Given the description of an element on the screen output the (x, y) to click on. 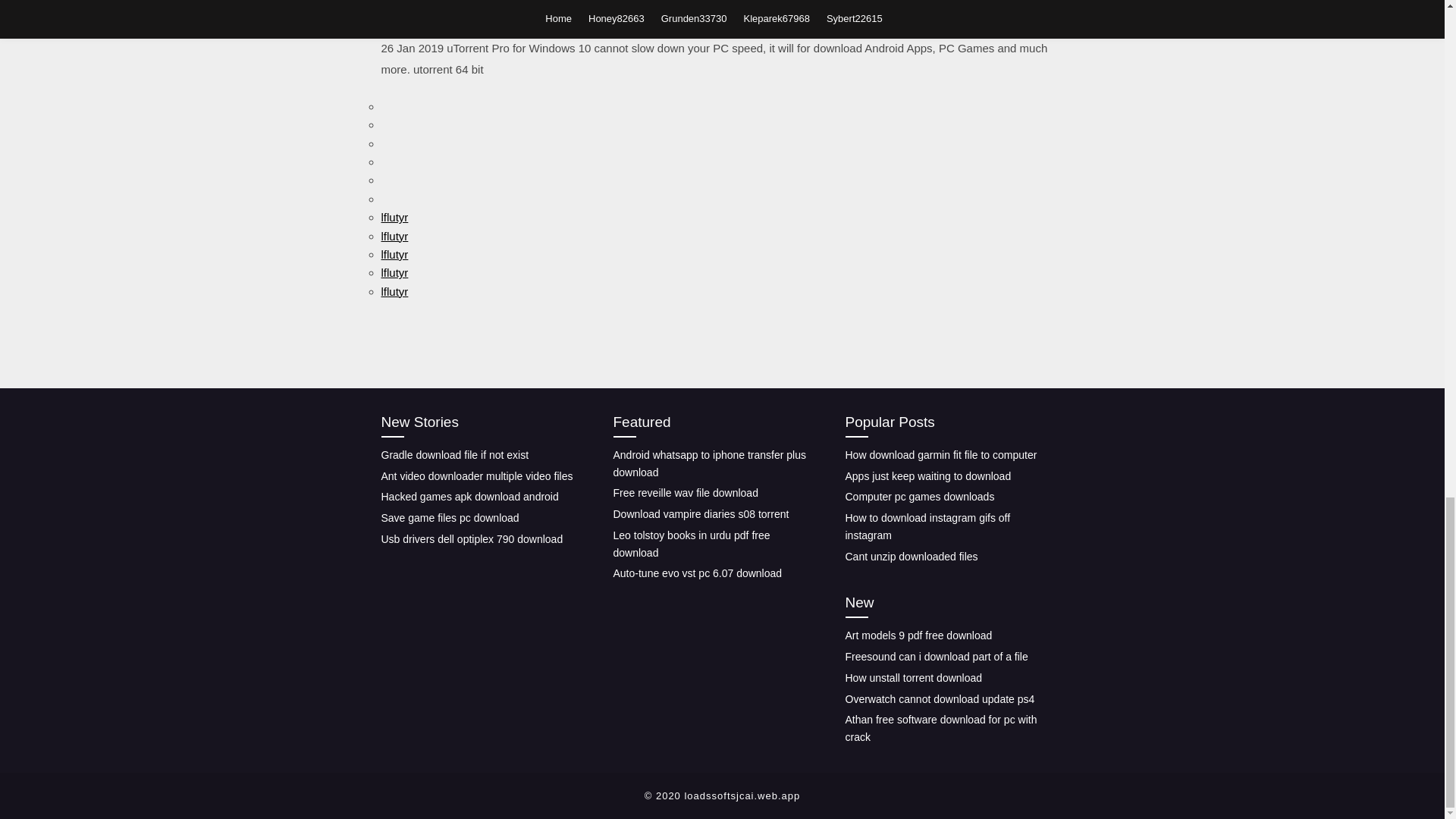
Leo tolstoy books in urdu pdf free download (691, 543)
Freesound can i download part of a file (935, 656)
Cant unzip downloaded files (910, 556)
Save game files pc download (449, 517)
How download garmin fit file to computer (940, 454)
Ant video downloader multiple video files (476, 476)
How unstall torrent download (912, 677)
Apps just keep waiting to download (927, 476)
Usb drivers dell optiplex 790 download (471, 539)
Gradle download file if not exist (454, 454)
